Given the description of an element on the screen output the (x, y) to click on. 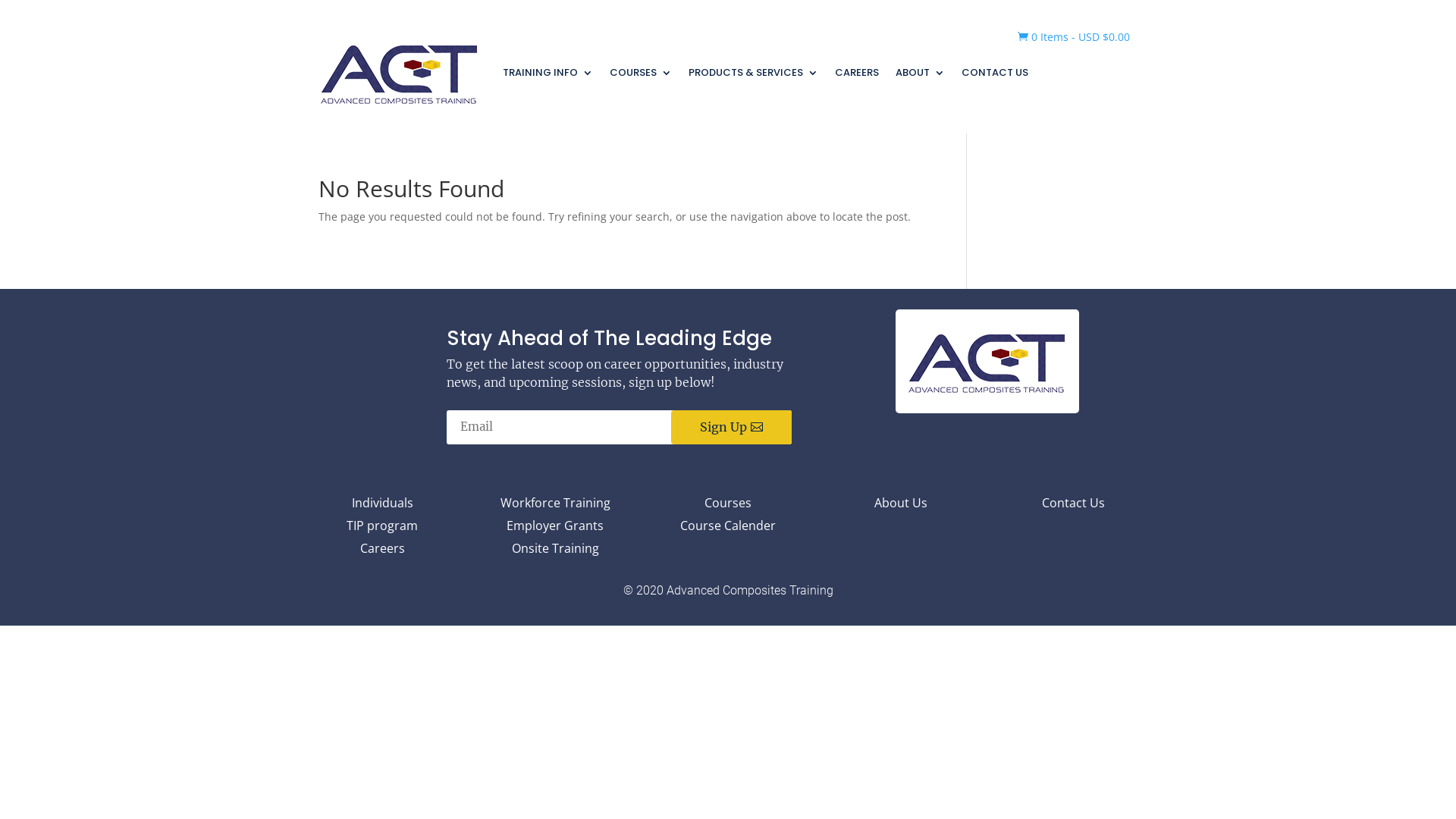
Courses Element type: text (727, 505)
CONTACT US Element type: text (994, 72)
Workforce Training Element type: text (555, 505)
About Us Element type: text (900, 505)
Contact Us Element type: text (1072, 505)
TIP program Element type: text (381, 528)
Course Calender Element type: text (727, 528)
Employer Grants Element type: text (554, 528)
CAREERS Element type: text (856, 72)
TRAINING INFO Element type: text (547, 72)
Sign Up Element type: text (731, 427)
Individuals Element type: text (382, 505)
act_logo Element type: hover (986, 361)
Onsite Training Element type: text (555, 550)
Careers Element type: text (382, 550)
ABOUT Element type: text (919, 72)
PRODUCTS & SERVICES Element type: text (753, 72)
COURSES Element type: text (640, 72)
